Given the description of an element on the screen output the (x, y) to click on. 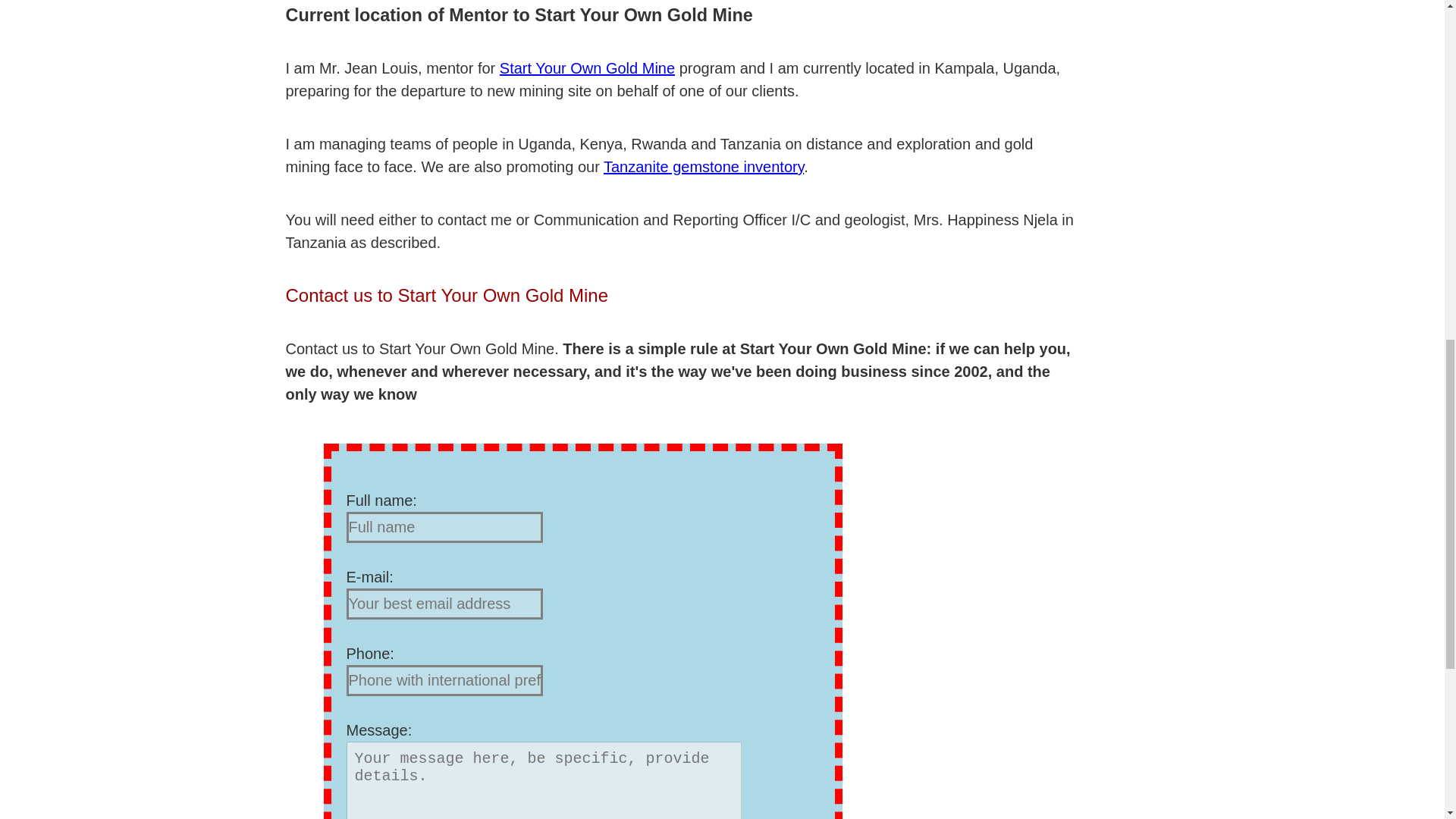
Tanzanite Apollo - Tanzanite from source (703, 166)
Contact us to Start Your Own Gold Mine (446, 295)
Start Your Own Gold Mine (587, 67)
Tanzanite gemstone inventory (587, 67)
